Given the description of an element on the screen output the (x, y) to click on. 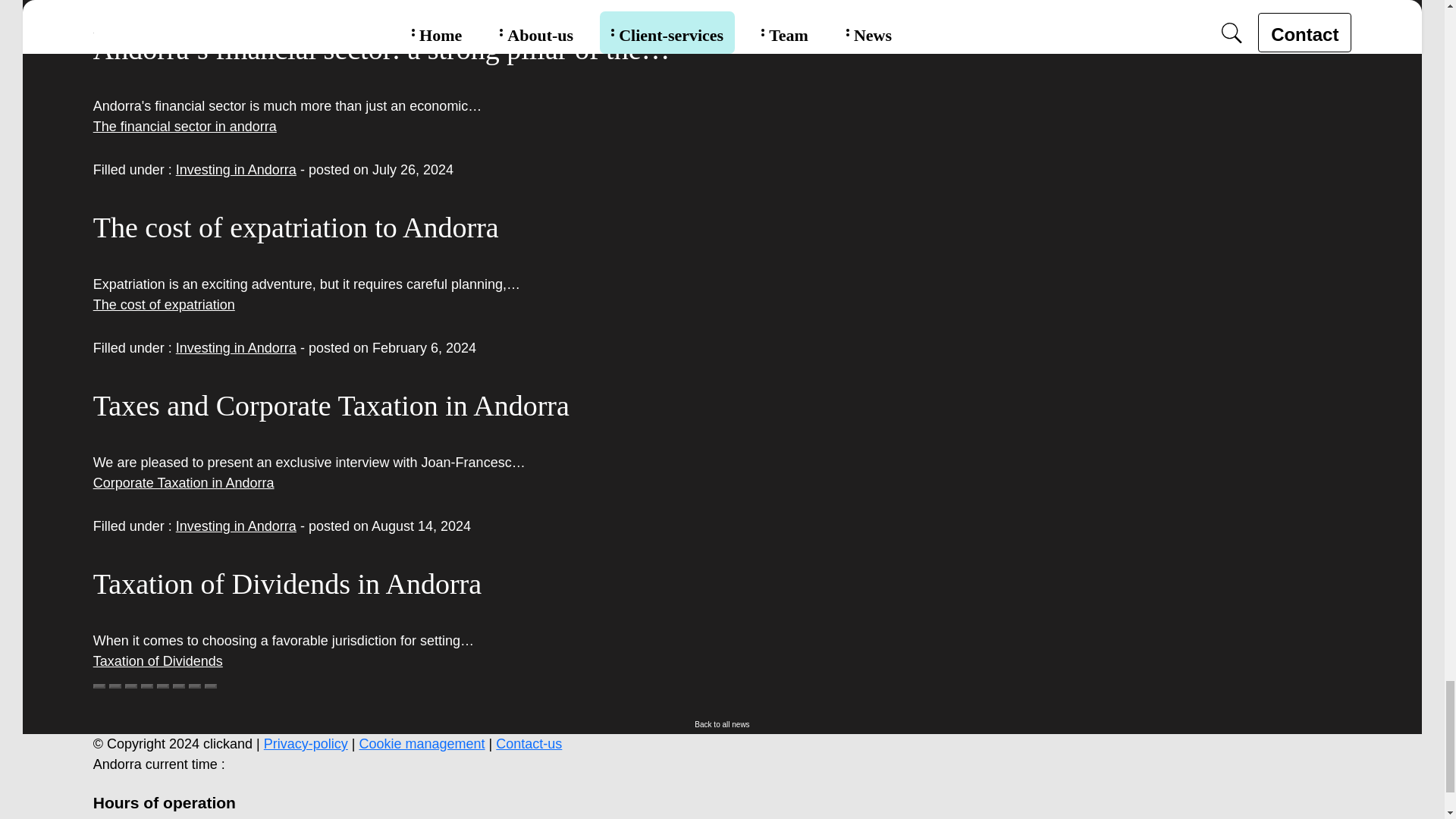
Taxation of Dividends (157, 661)
Investing in Andorra (236, 347)
Investing in Andorra (236, 525)
Investing in Andorra (236, 169)
The financial sector in andorra (184, 126)
The cost of expatriation (163, 304)
Corporate Taxation in Andorra (184, 482)
